Given the description of an element on the screen output the (x, y) to click on. 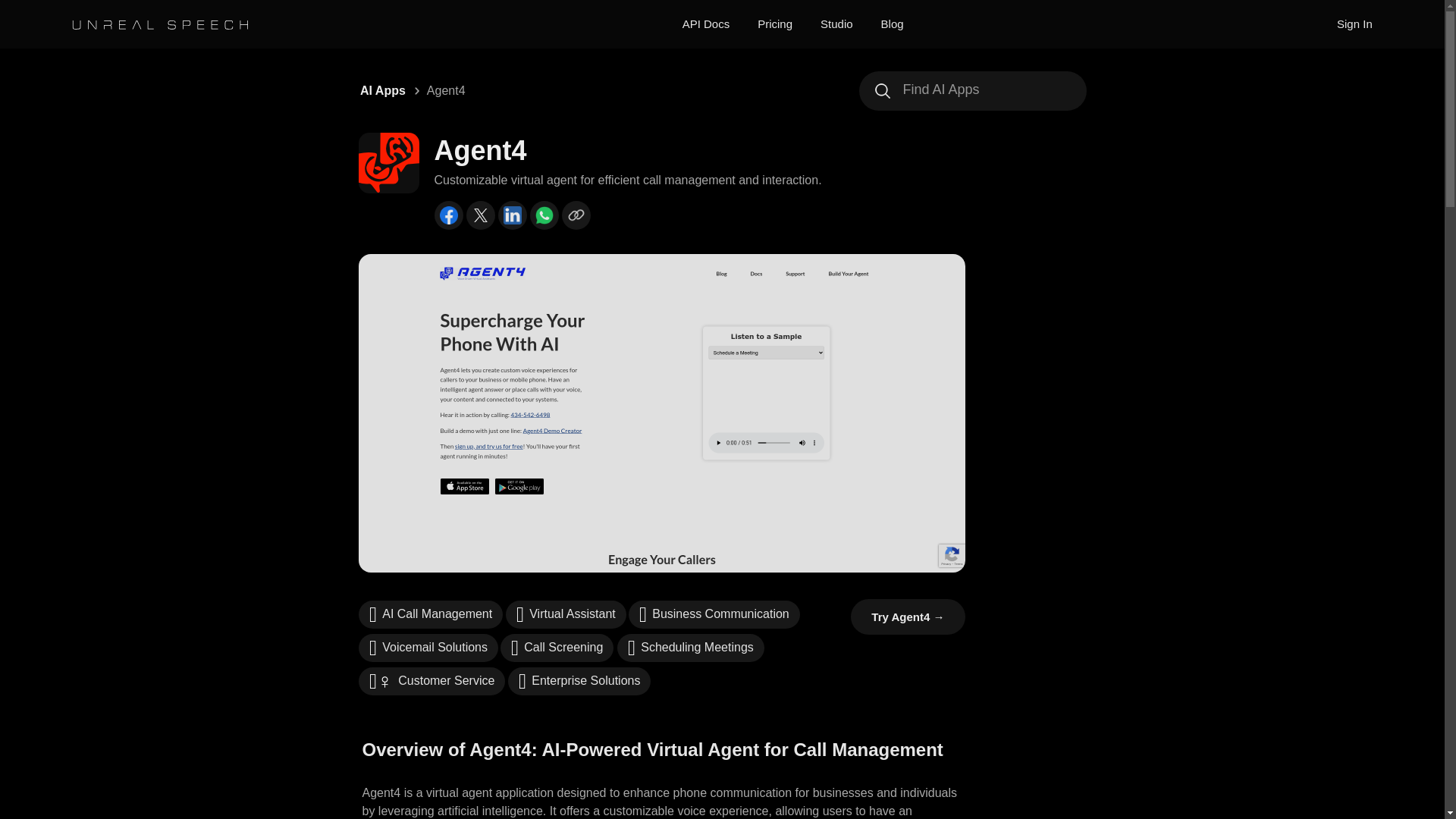
Share on LinkedIn (511, 215)
Share on WhatsApp (543, 215)
Blog (892, 23)
Share on Facebook (448, 215)
AI Apps (381, 90)
API Docs (706, 23)
Pricing (774, 23)
Share on X (480, 215)
Studio (837, 23)
Copy Link (574, 215)
